Given the description of an element on the screen output the (x, y) to click on. 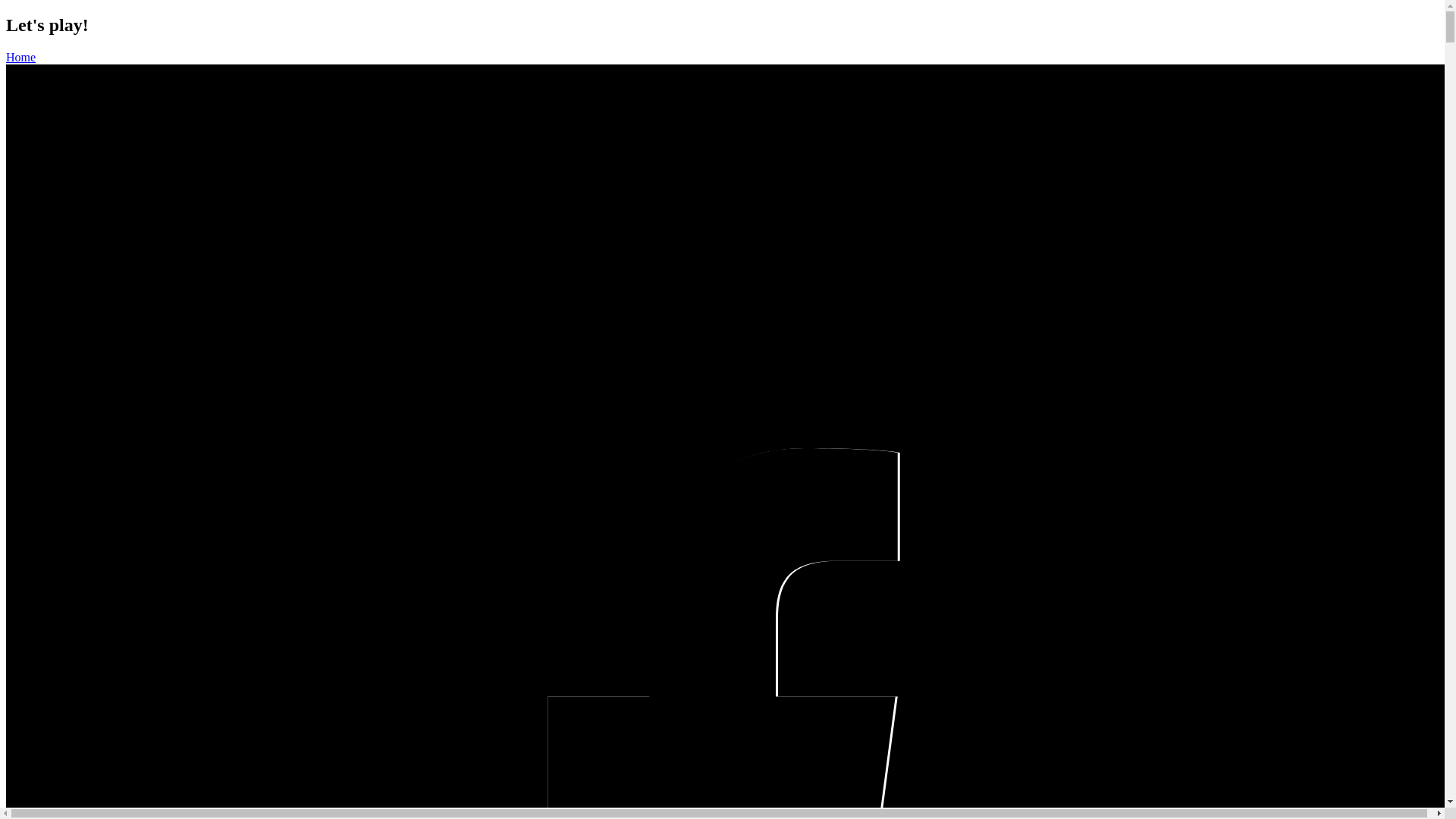
Home Element type: text (20, 56)
